Given the description of an element on the screen output the (x, y) to click on. 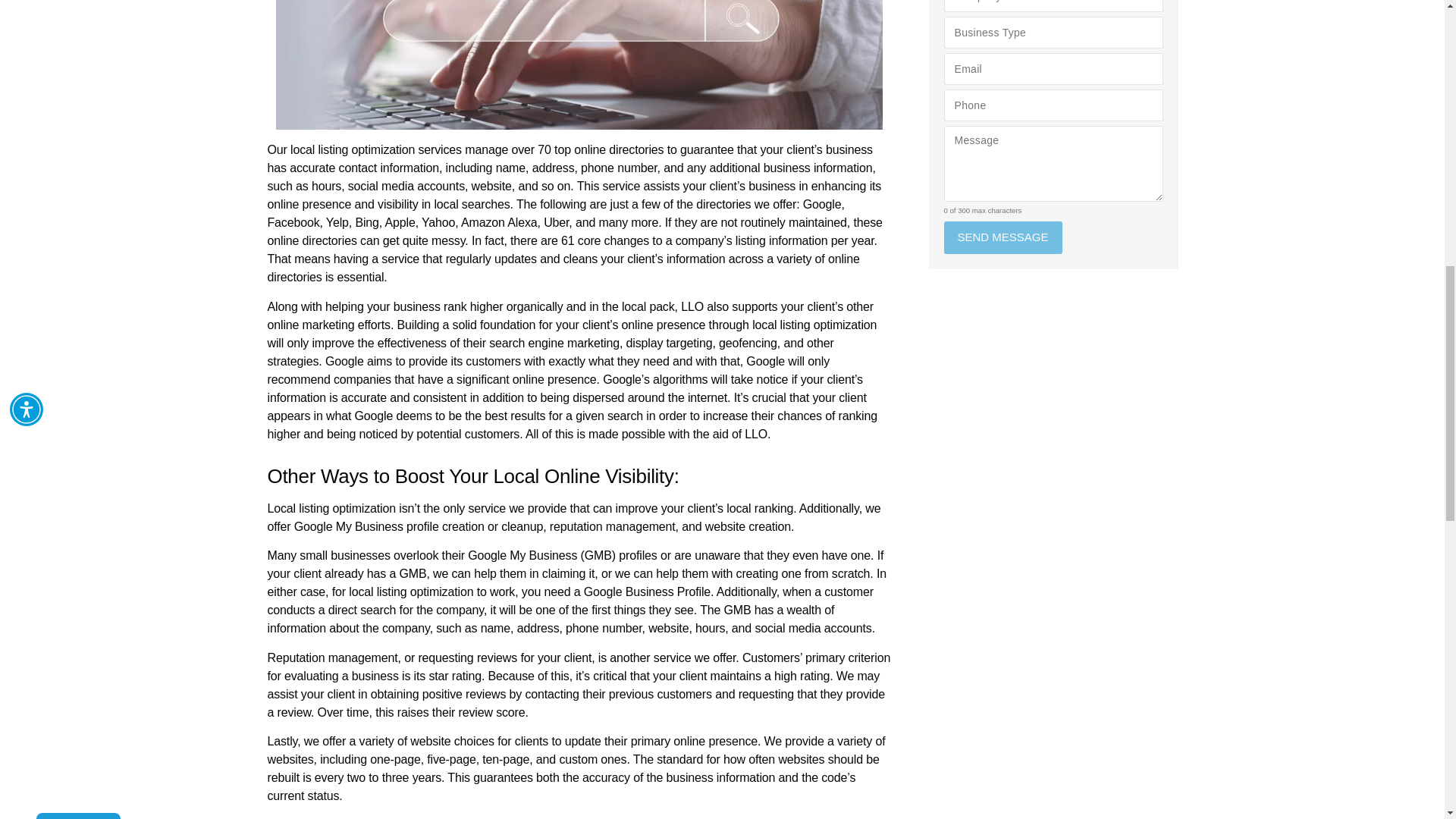
Send Message (1002, 237)
